Given the description of an element on the screen output the (x, y) to click on. 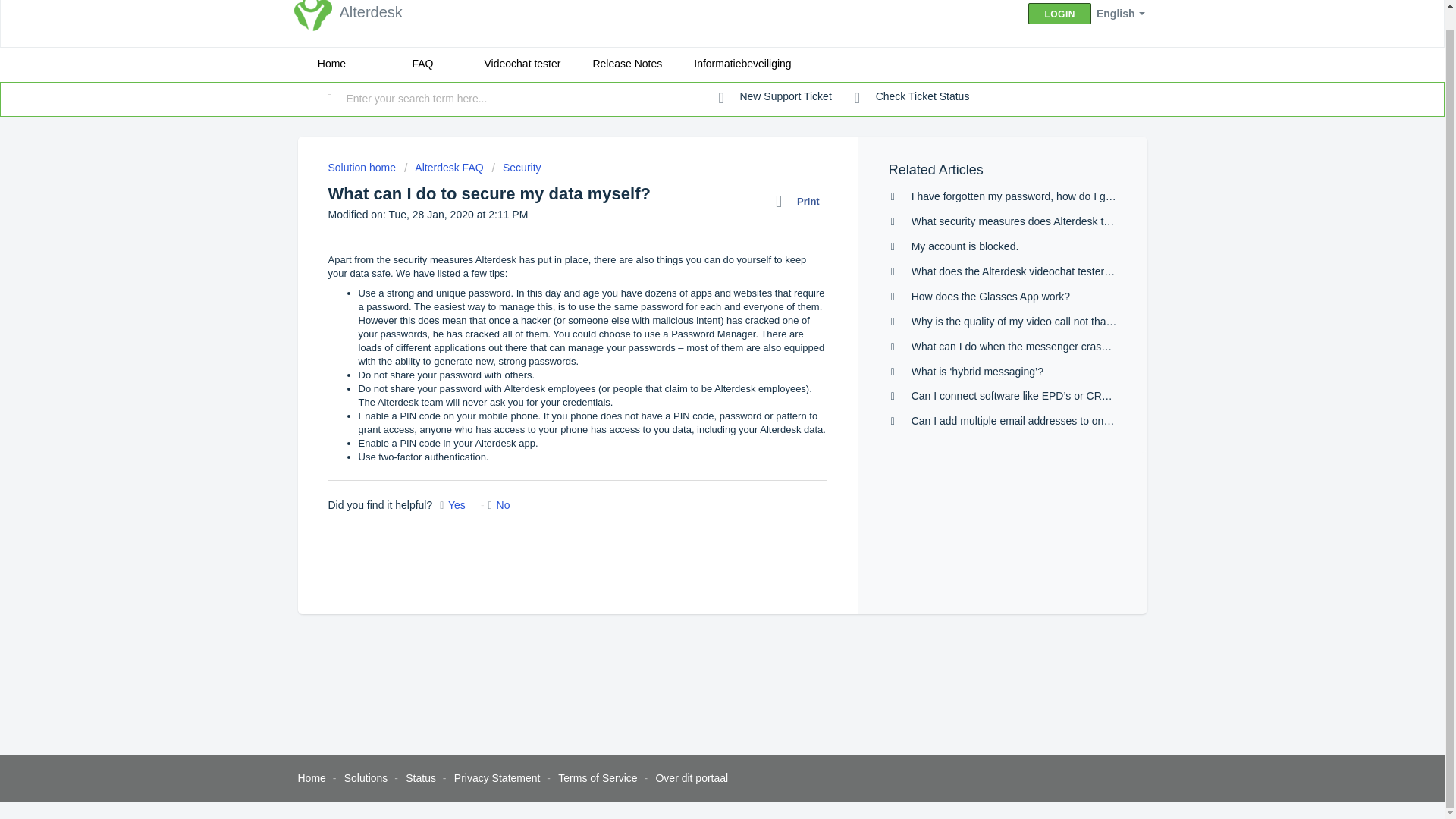
Solutions (365, 777)
How does the Glasses App work? (990, 296)
Print (801, 201)
Home (331, 63)
I have forgotten my password, how do I get a new one? (1041, 196)
FAQ (422, 63)
Release Notes (627, 63)
Over dit portaal (691, 777)
Enable a PIN code in your Alterdesk app. (447, 442)
